Given the description of an element on the screen output the (x, y) to click on. 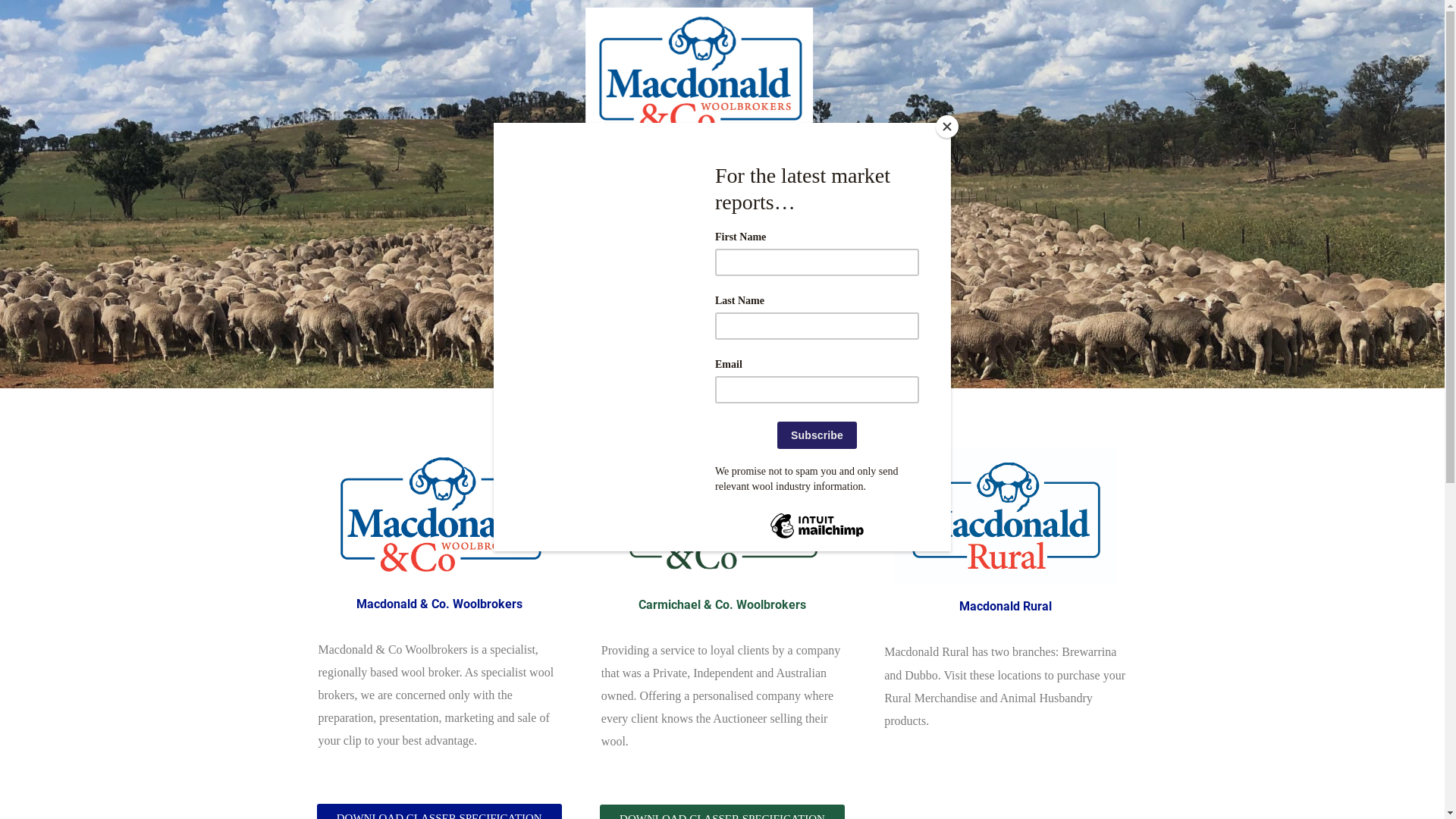
CLICK HERE FOR WEEKLY MARKET REPORTS Element type: text (720, 410)
